Given the description of an element on the screen output the (x, y) to click on. 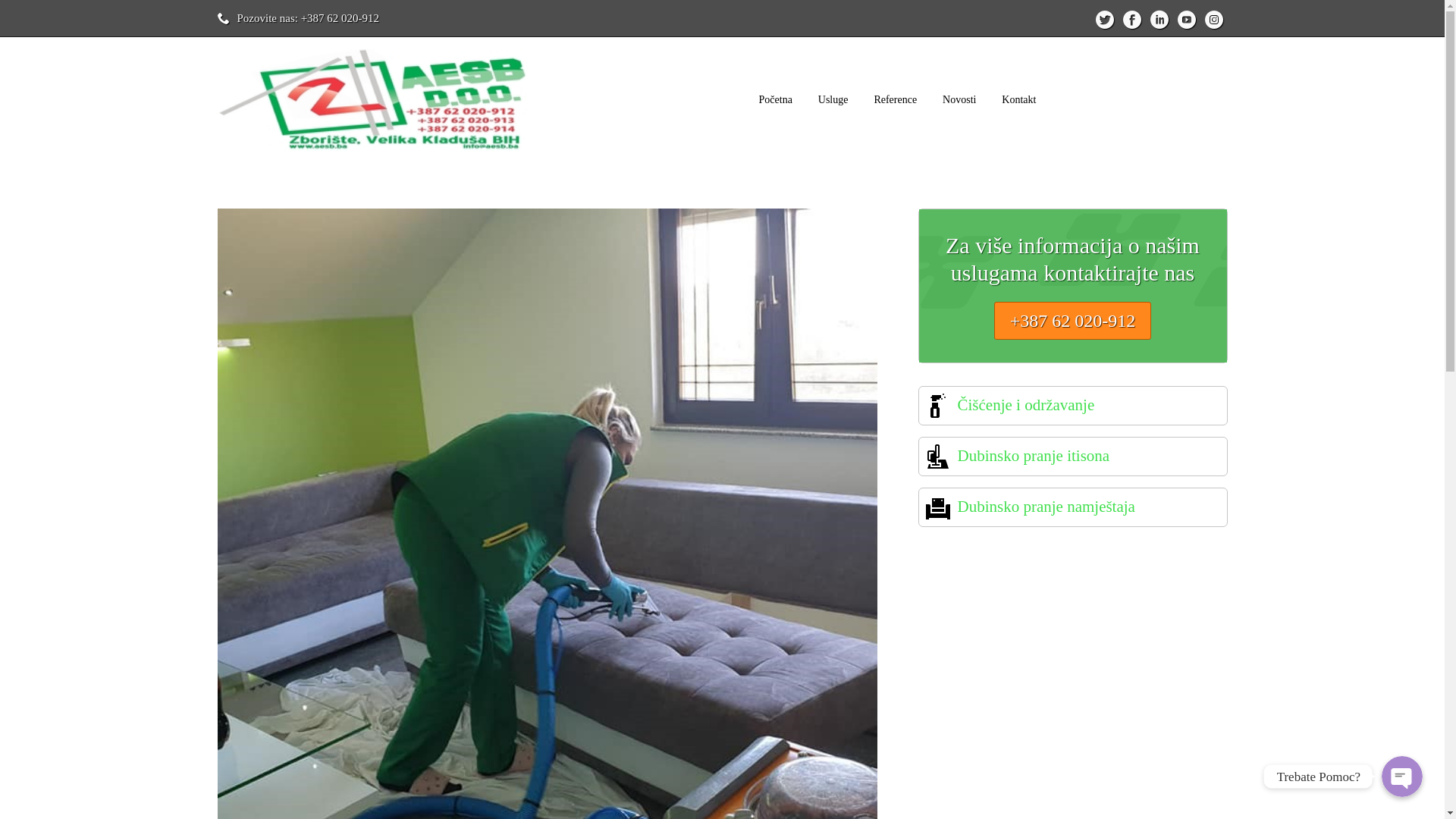
Pozovite nas: +387 62 020-912 Element type: text (307, 18)
Kontakt Element type: text (1018, 99)
Reference Element type: text (894, 99)
+387 62 020-912 Element type: text (1072, 320)
Dubinsko pranje itisona Element type: text (1033, 455)
Novosti Element type: text (958, 99)
Usluge Element type: text (833, 99)
